Given the description of an element on the screen output the (x, y) to click on. 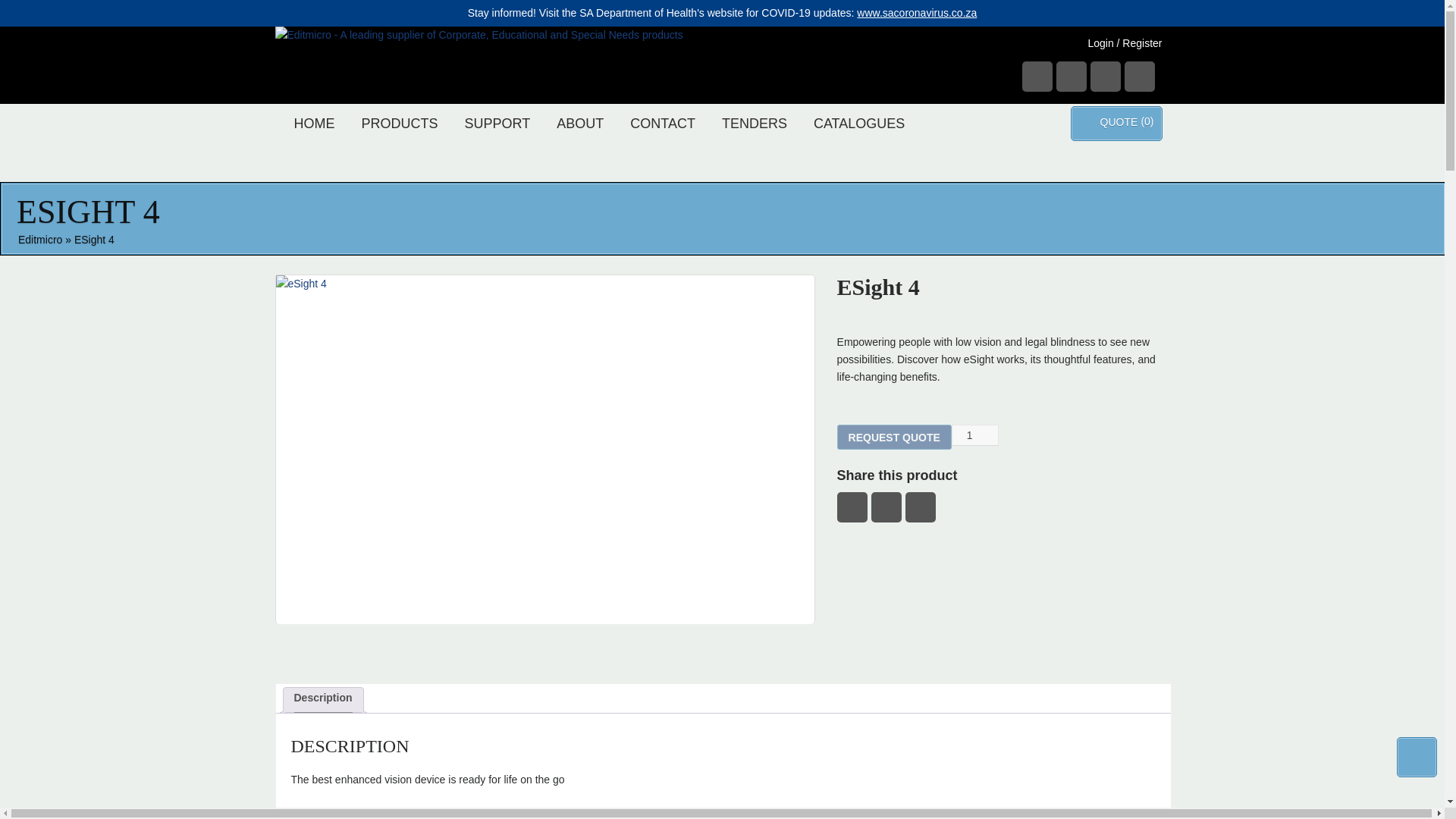
1 (975, 435)
LinkedIn (1139, 76)
Twitter (1070, 76)
HOME (314, 121)
Facebook (852, 507)
Twitter (885, 507)
Youtube (1105, 76)
Facebook (1037, 76)
PRODUCTS (399, 121)
